Given the description of an element on the screen output the (x, y) to click on. 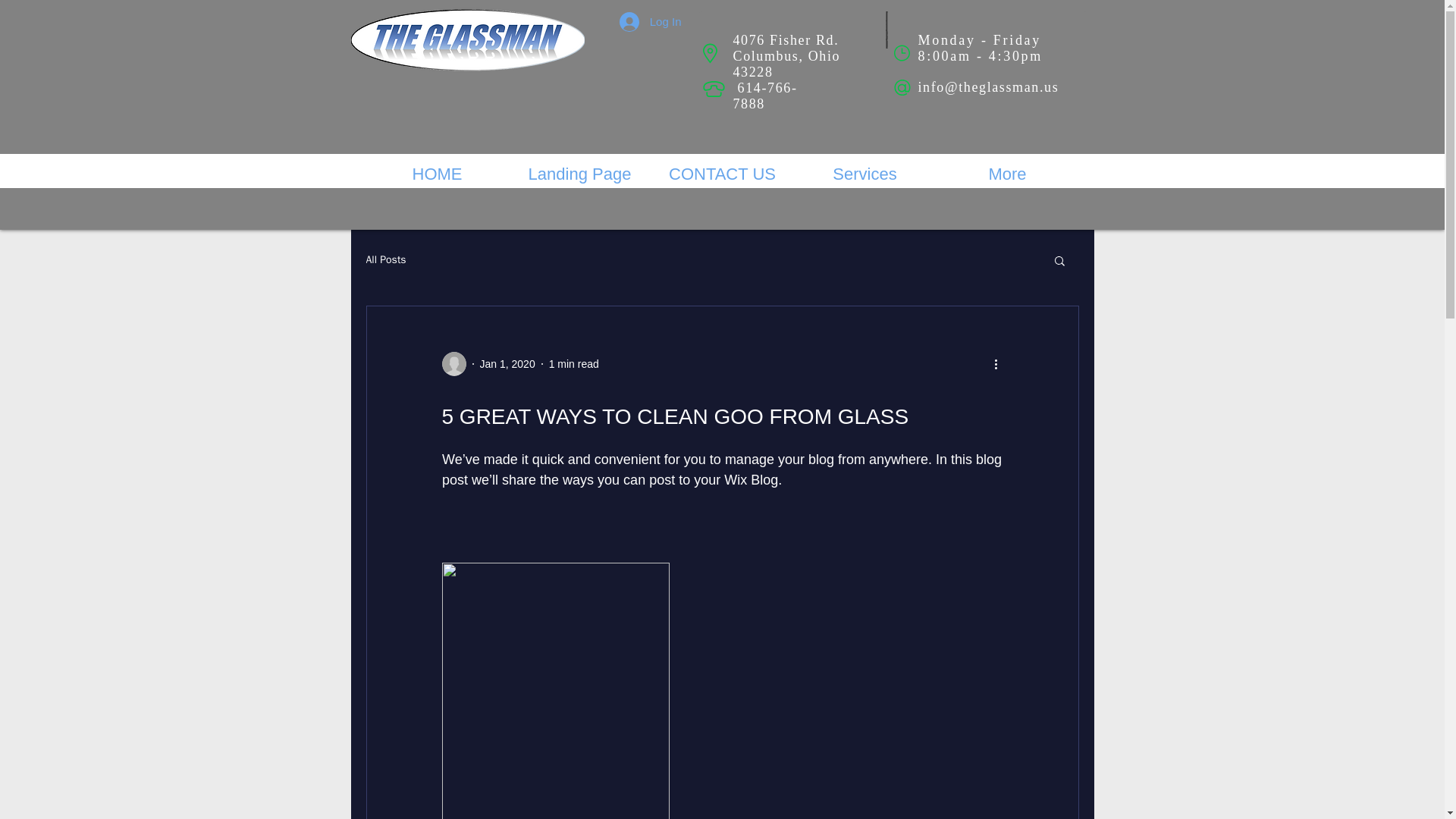
1 min read (573, 363)
HOME (436, 173)
All Posts (385, 259)
Landing Page (579, 173)
Jan 1, 2020 (506, 363)
CONTACT US (721, 173)
Services (864, 173)
Log In (650, 21)
